Given the description of an element on the screen output the (x, y) to click on. 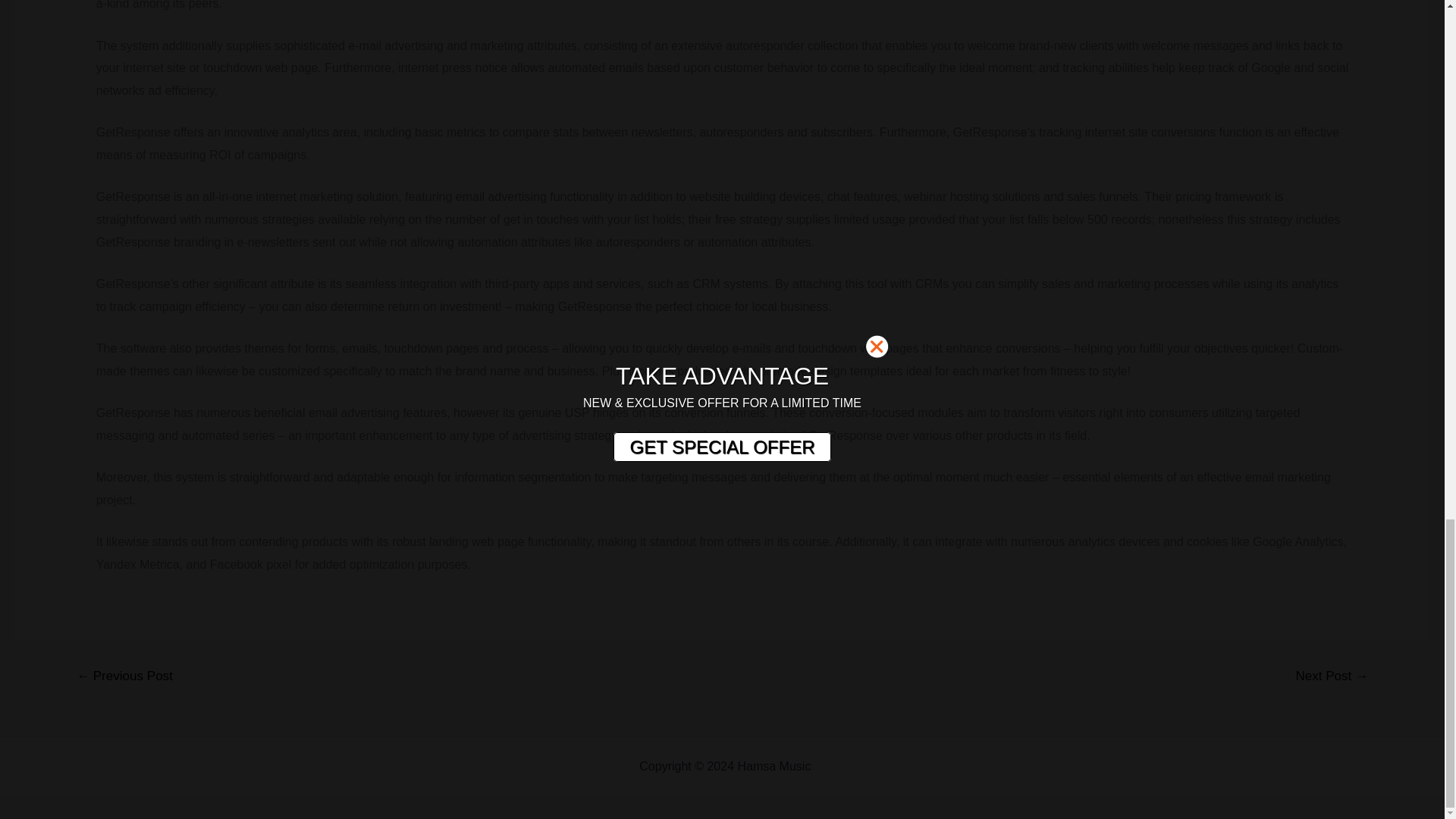
Sitemap (836, 766)
